Given the description of an element on the screen output the (x, y) to click on. 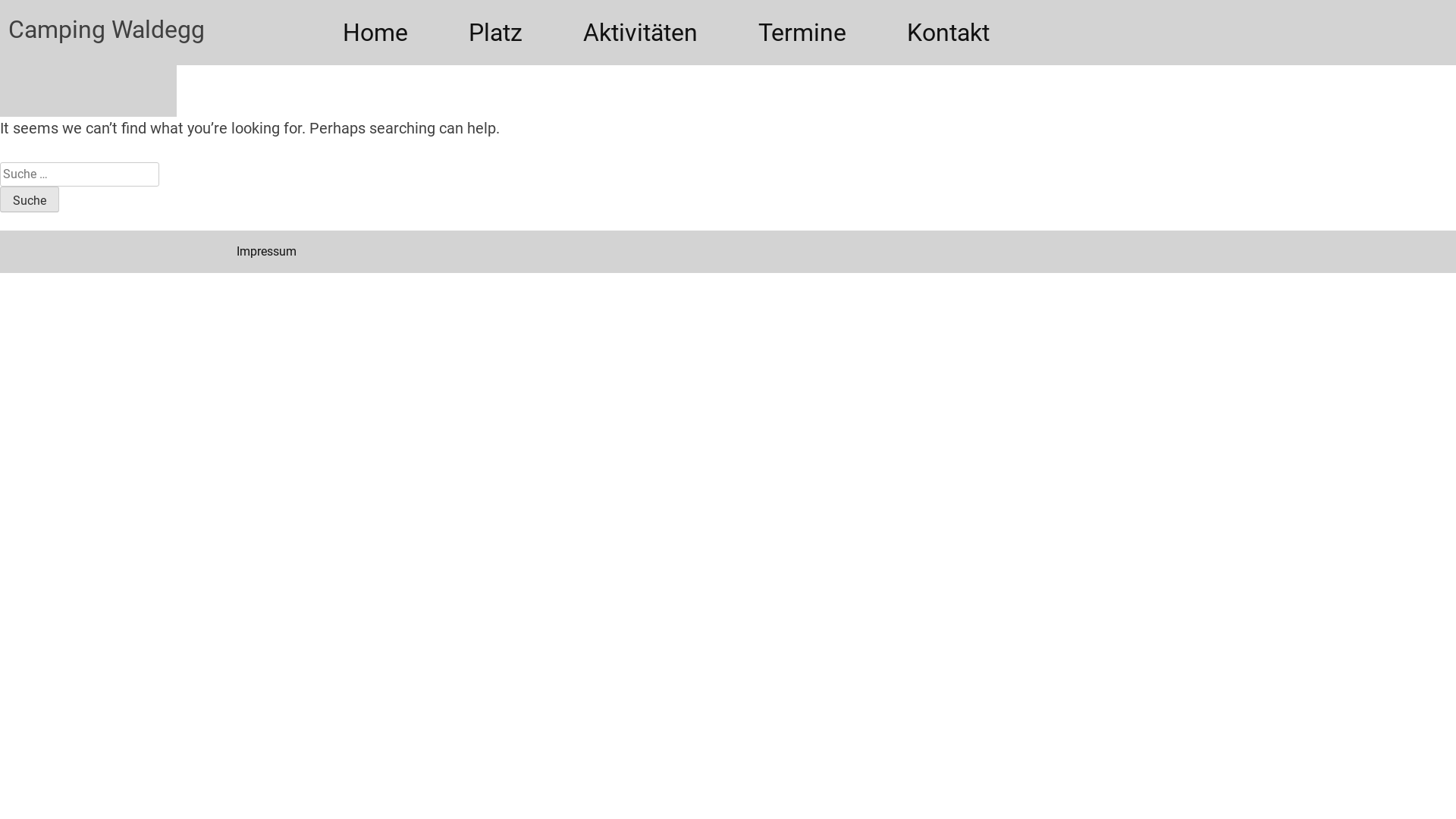
Camping Waldegg Element type: text (61, 11)
Platz Element type: text (495, 32)
Suche Element type: text (29, 199)
Home Element type: text (374, 32)
Kontakt Element type: text (947, 32)
Termine Element type: text (802, 32)
Impressum Element type: text (266, 251)
